Given the description of an element on the screen output the (x, y) to click on. 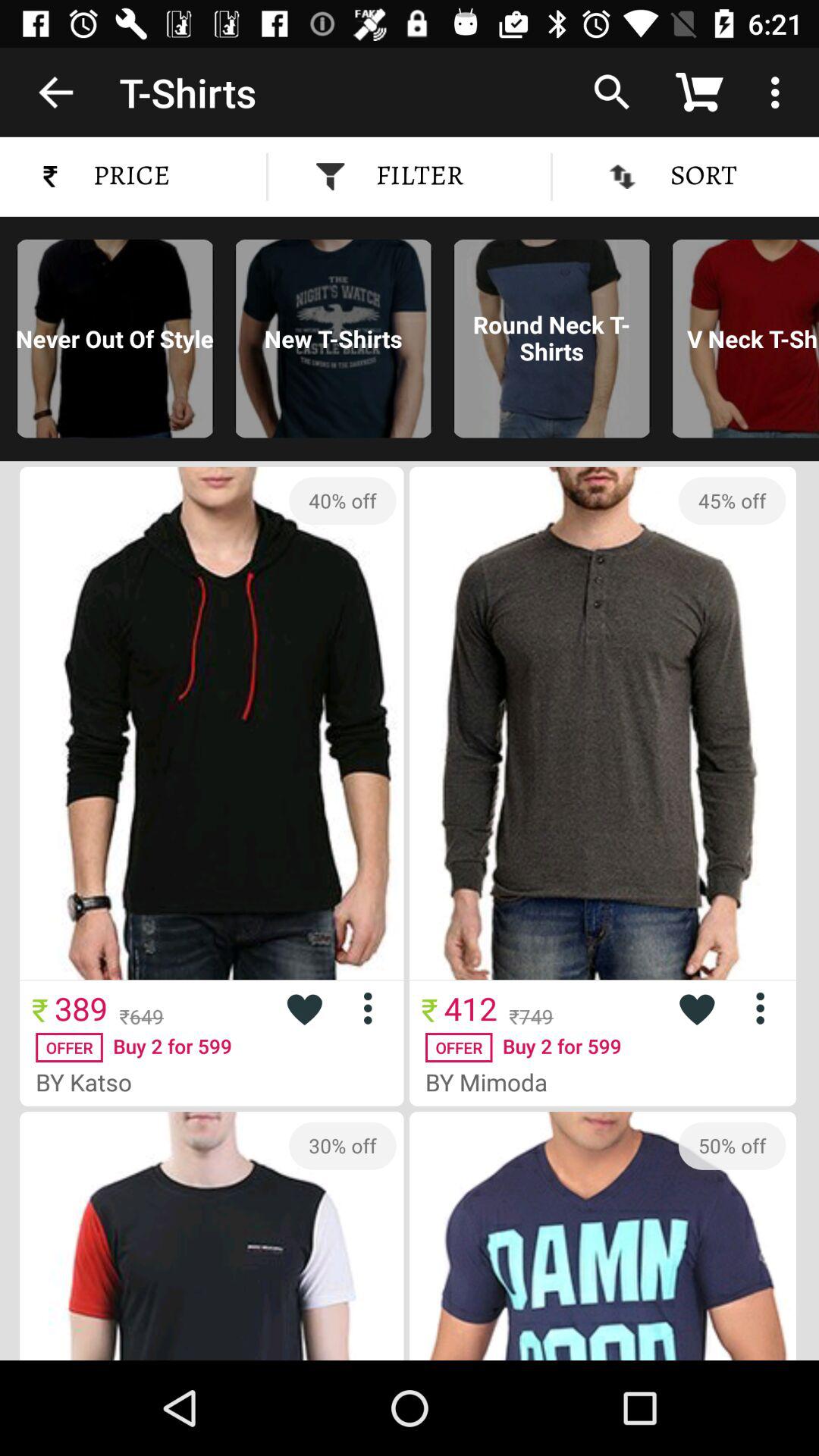
turn off item below offer item (492, 1081)
